Given the description of an element on the screen output the (x, y) to click on. 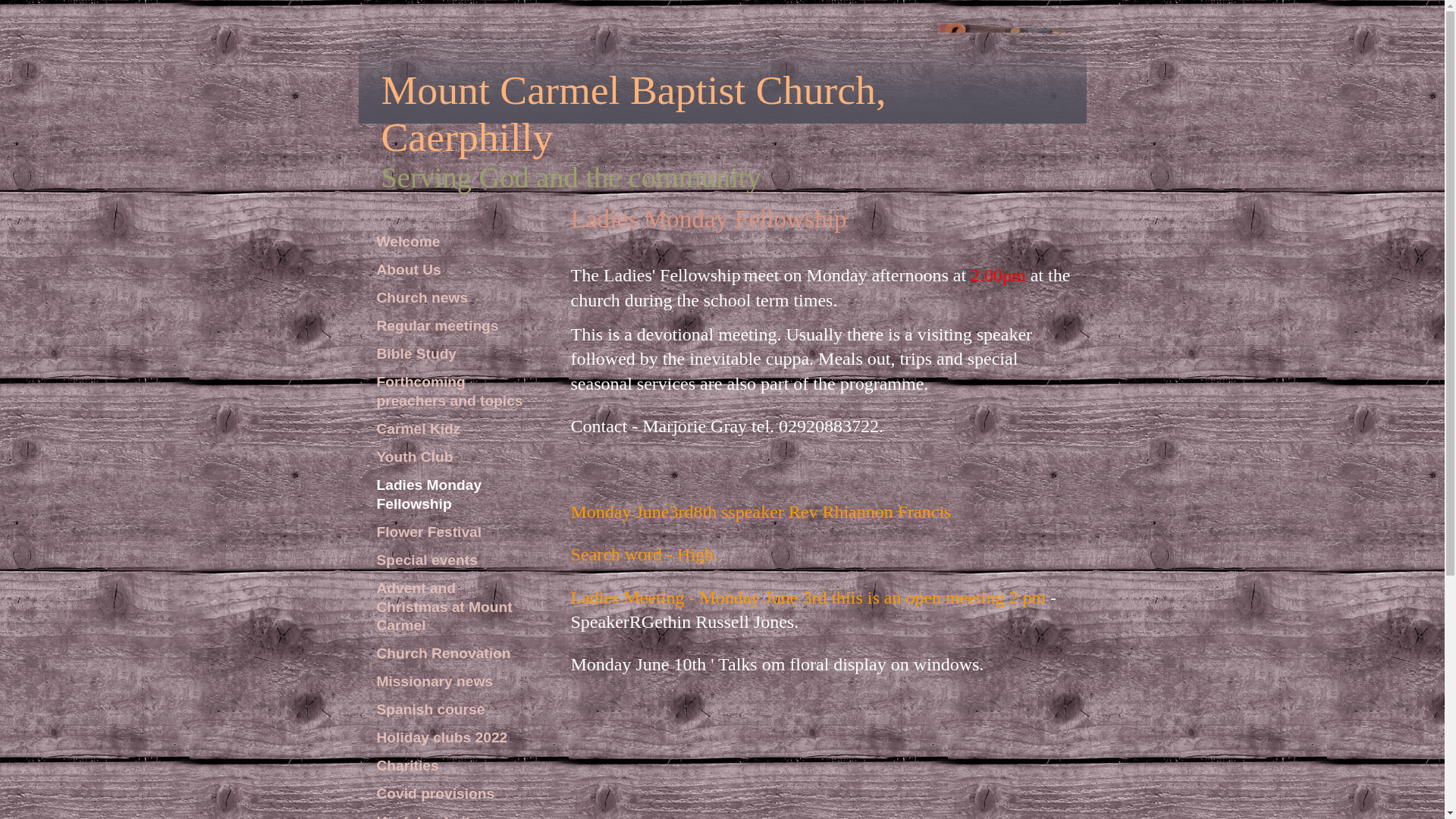
Church Renovation (449, 653)
Regular meetings (449, 326)
Youth Club (449, 457)
Charities (449, 765)
Holiday clubs 2022 (449, 738)
Advent and Christmas at Mount Carmel (449, 607)
Church news (449, 298)
Covid provisions (449, 794)
Special events (449, 560)
Spanish course (449, 709)
